Given the description of an element on the screen output the (x, y) to click on. 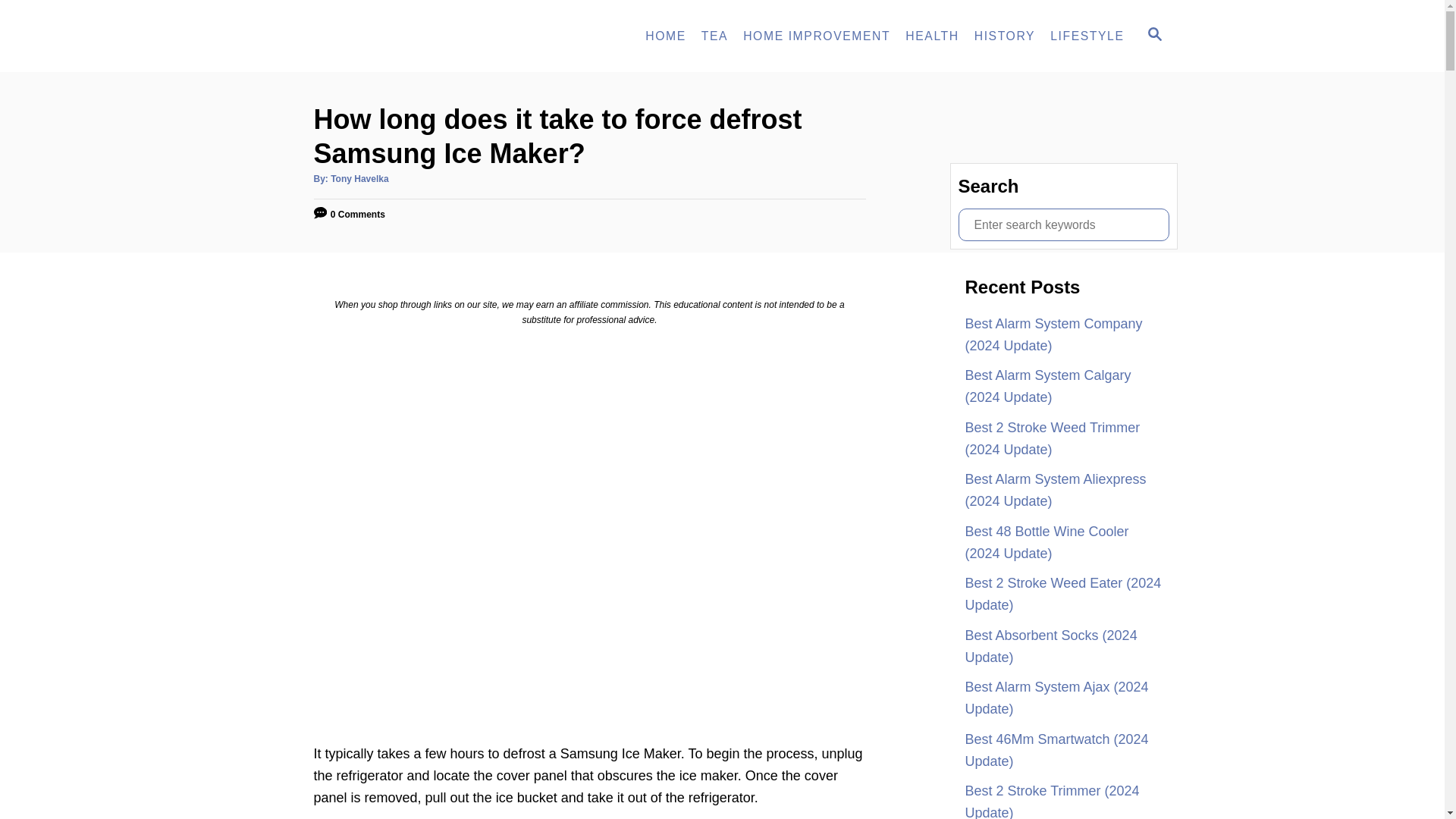
HOME (1153, 35)
Liquid Image (665, 36)
HISTORY (403, 36)
YouTube player (1004, 36)
Tony Havelka (932, 36)
HOME IMPROVEMENT (359, 178)
TEA (816, 36)
LIFESTYLE (714, 36)
